Given the description of an element on the screen output the (x, y) to click on. 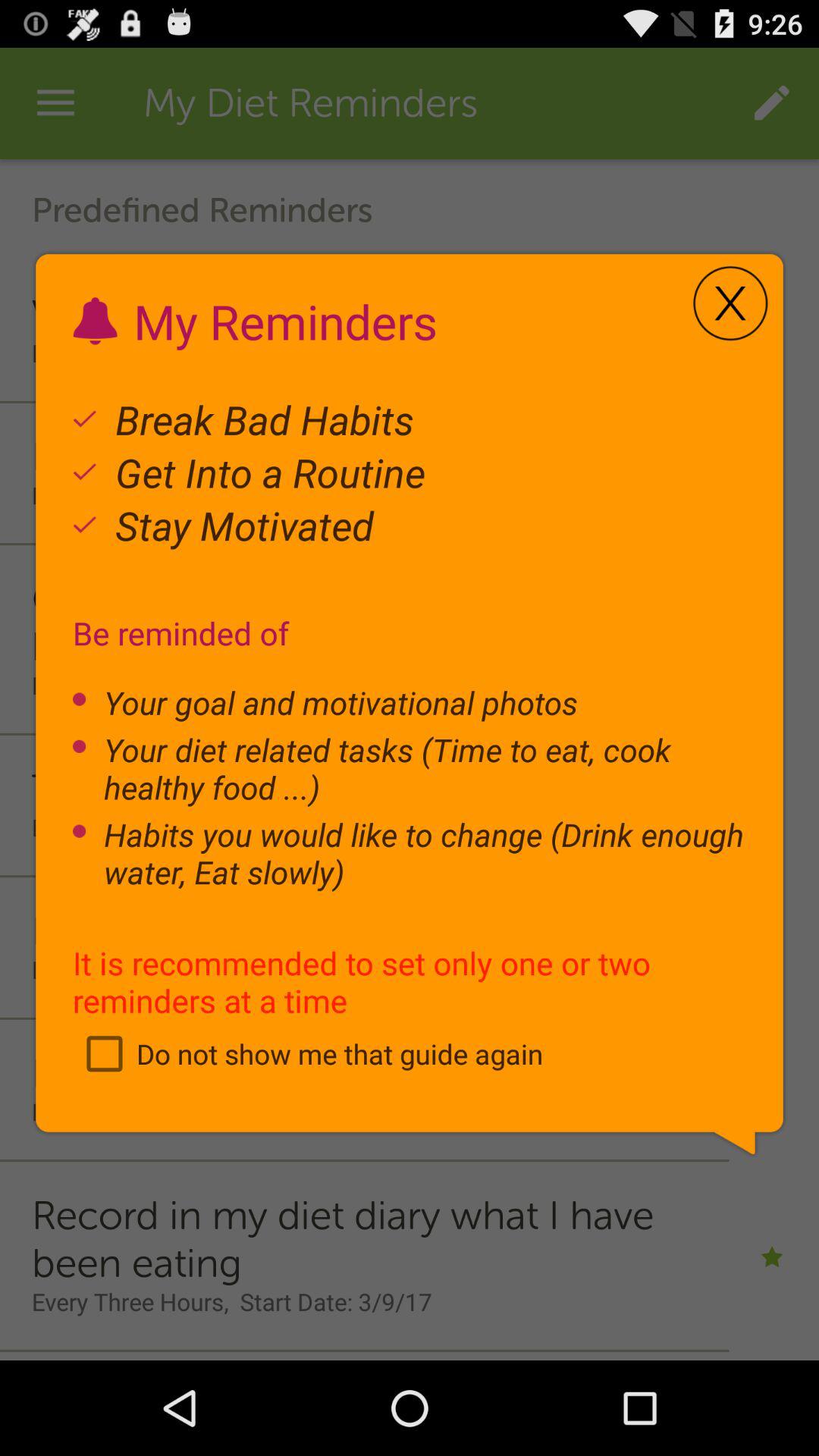
jump until do not show item (307, 1053)
